Given the description of an element on the screen output the (x, y) to click on. 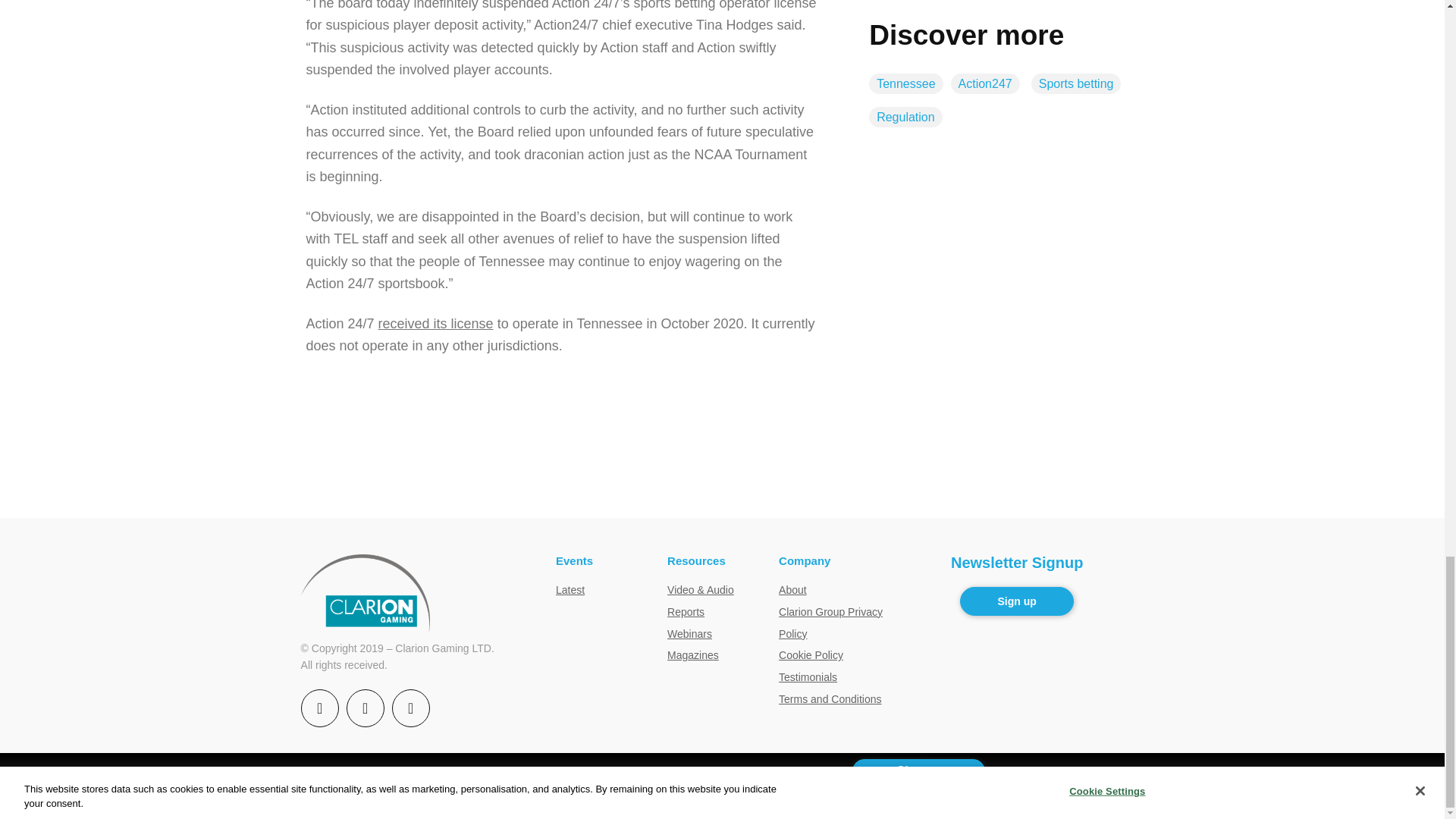
Facebook (320, 708)
3rd party ad content (721, 468)
Twitter (365, 708)
LinkedIn (410, 708)
